Given the description of an element on the screen output the (x, y) to click on. 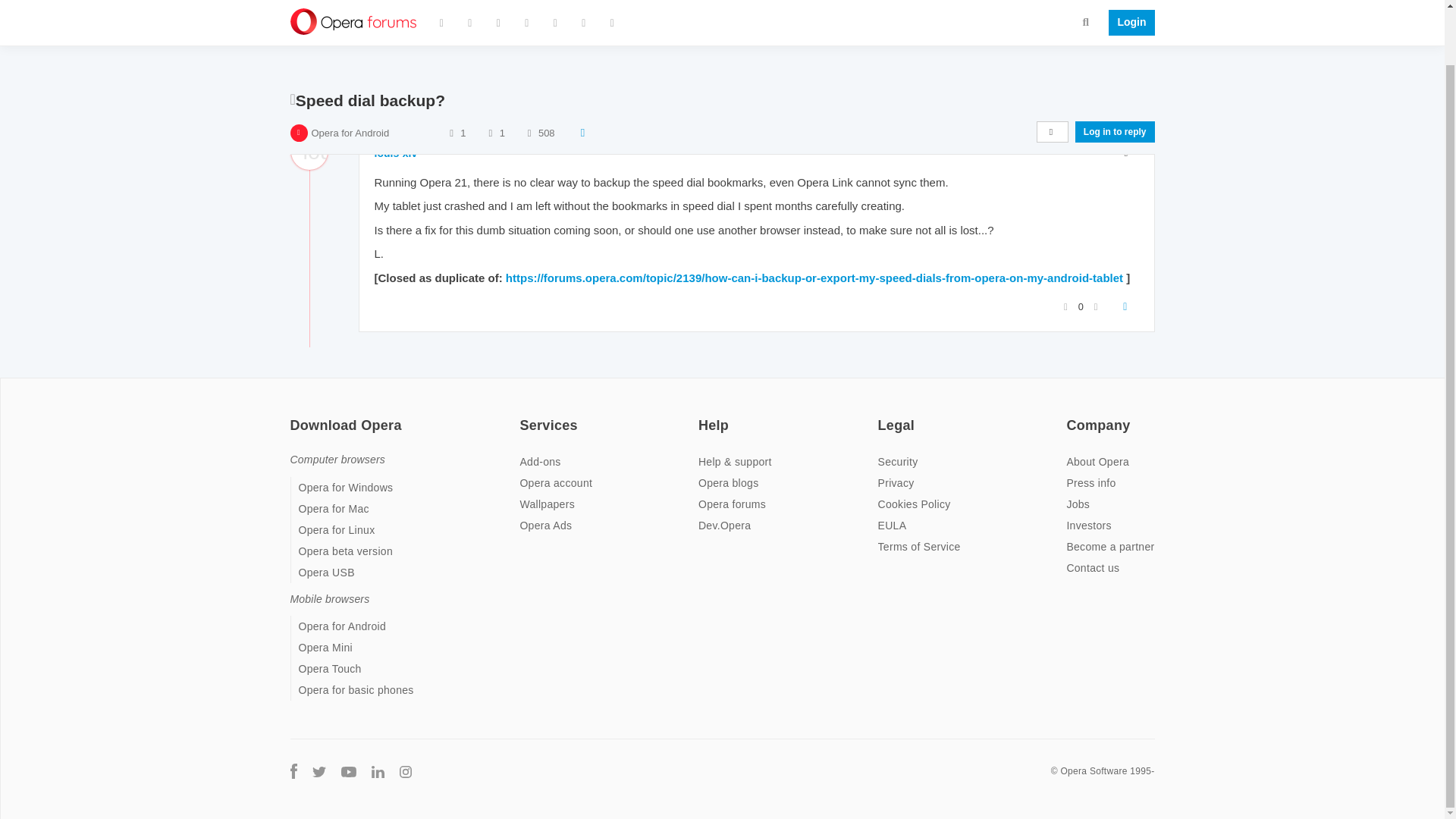
on (293, 415)
on (1070, 415)
Posters (451, 96)
on (881, 415)
on (523, 415)
on (702, 415)
louis-xiv (395, 152)
Views (528, 96)
Log in to reply (1114, 95)
Opera for Android (349, 96)
Posts (490, 96)
